Given the description of an element on the screen output the (x, y) to click on. 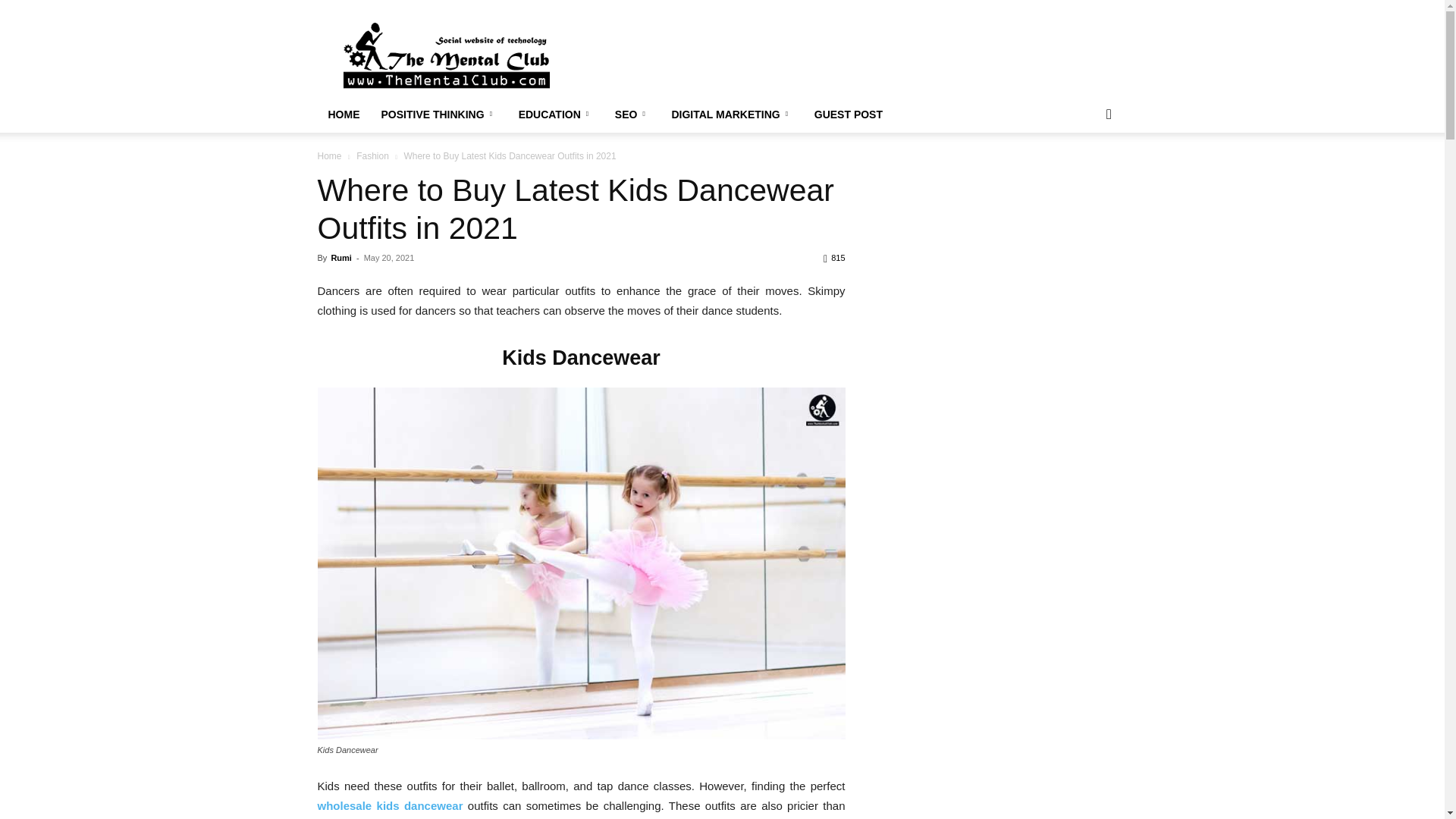
The Mental Club (445, 55)
EDUCATION (556, 114)
POSITIVE THINKING (437, 114)
HOME (343, 114)
